Given the description of an element on the screen output the (x, y) to click on. 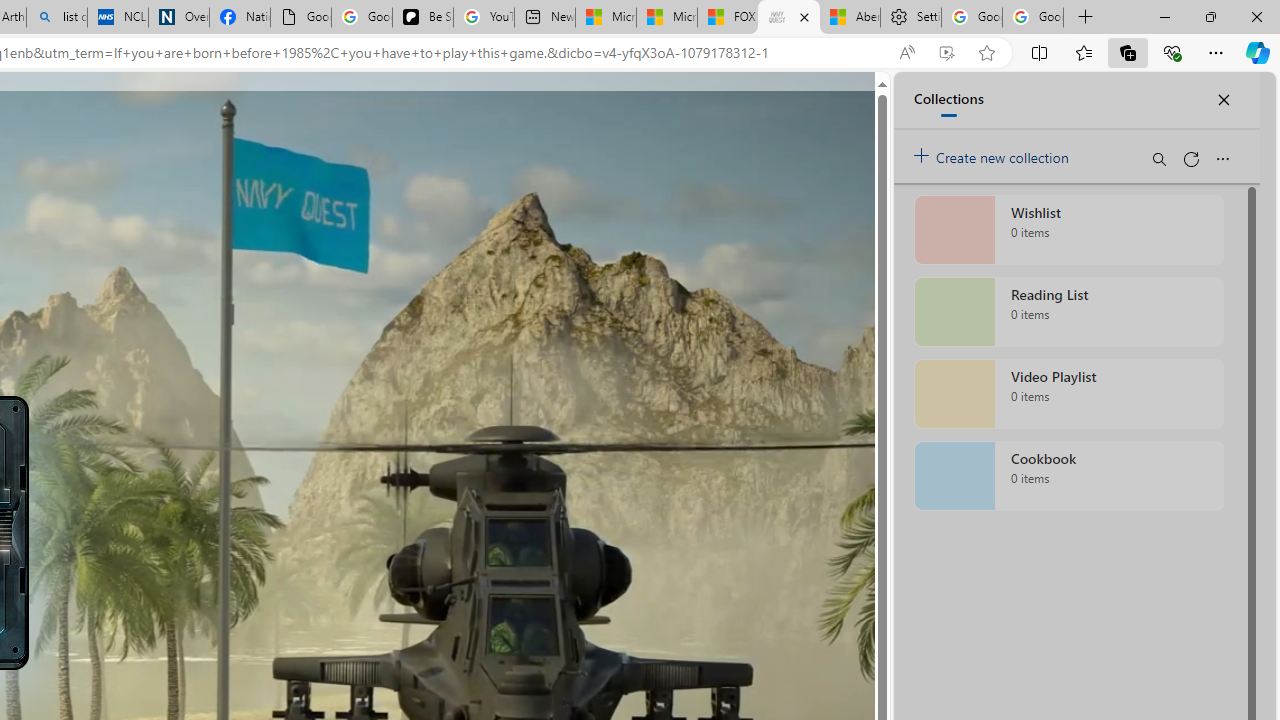
Aberdeen, Hong Kong SAR hourly forecast | Microsoft Weather (850, 17)
Enhance video (946, 53)
Be Smart | creating Science videos | Patreon (423, 17)
